Given the description of an element on the screen output the (x, y) to click on. 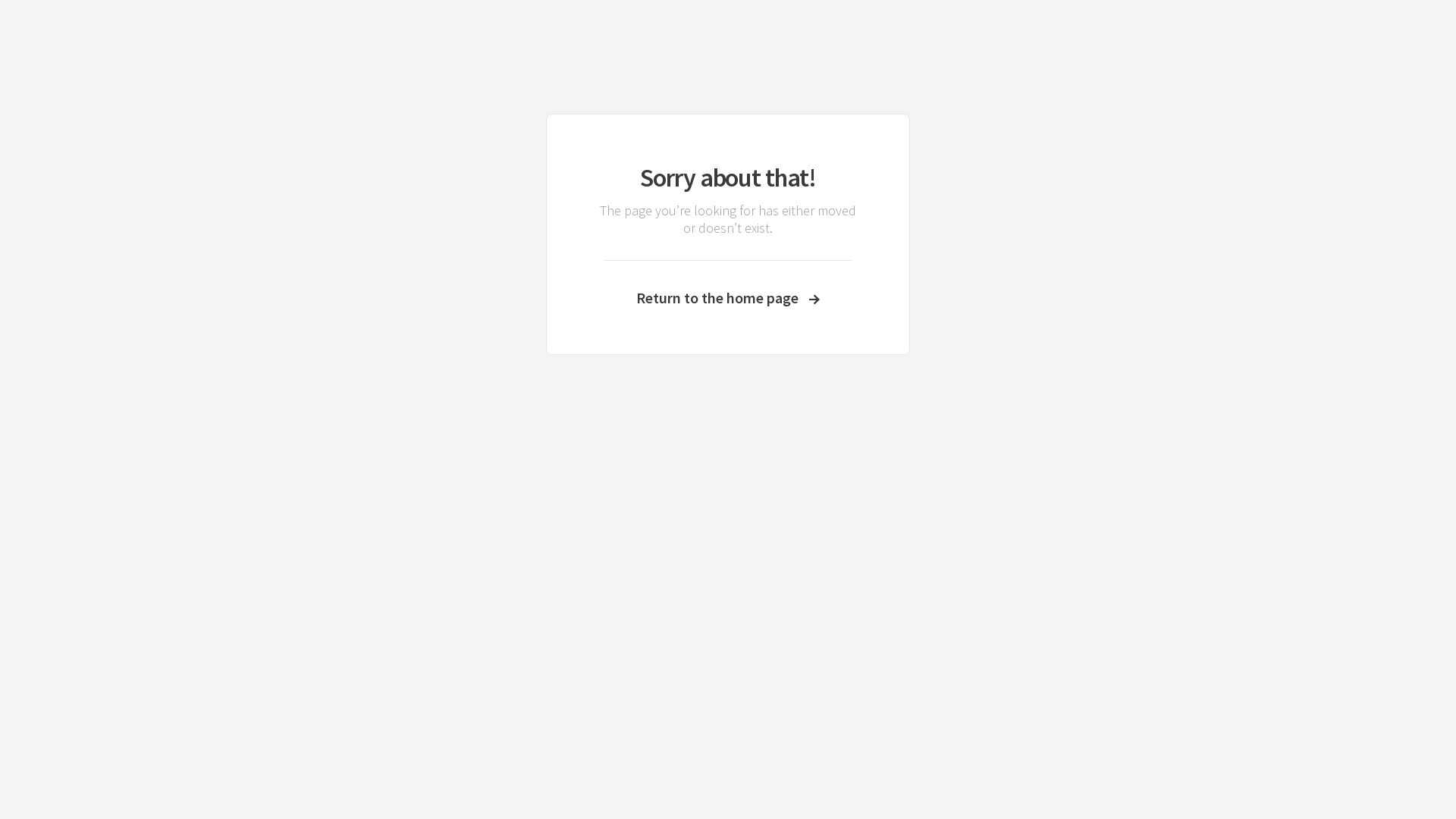
Return to the home page Element type: text (727, 297)
